Given the description of an element on the screen output the (x, y) to click on. 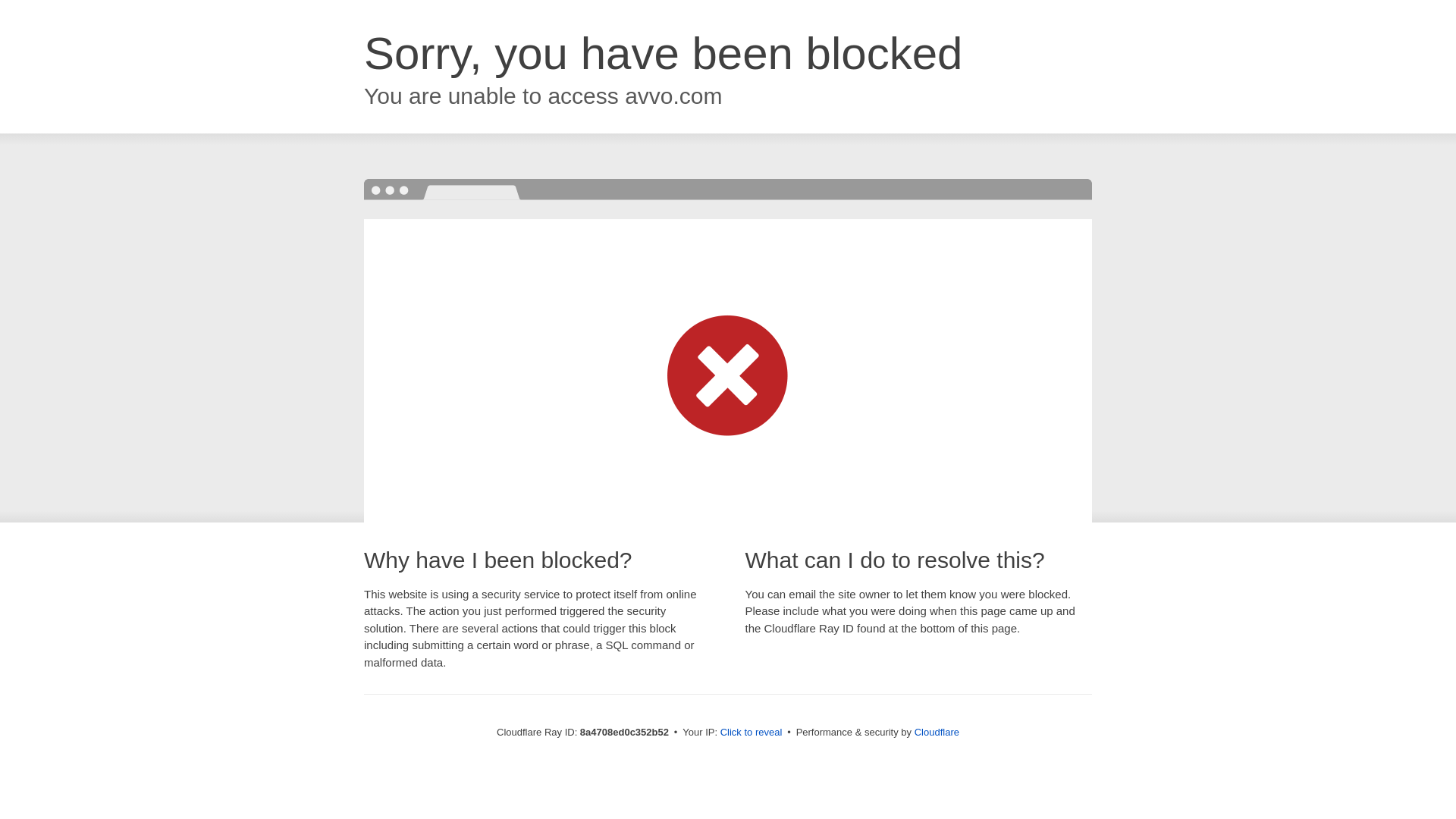
Cloudflare (936, 731)
Click to reveal (751, 732)
